Given the description of an element on the screen output the (x, y) to click on. 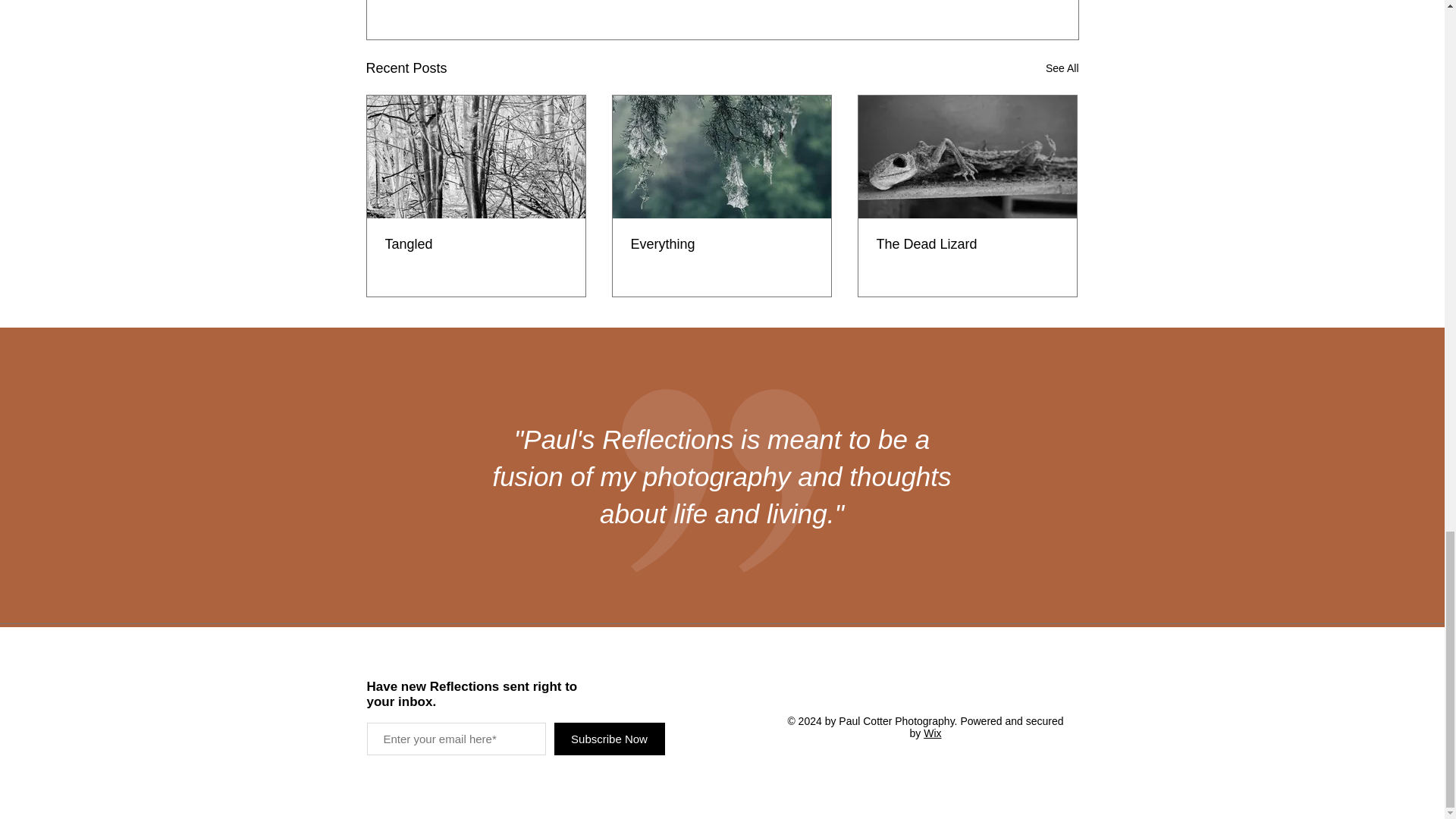
The Dead Lizard (967, 244)
Wix (931, 733)
Tangled (476, 244)
Everything (721, 244)
See All (1061, 68)
Subscribe Now (608, 738)
